Given the description of an element on the screen output the (x, y) to click on. 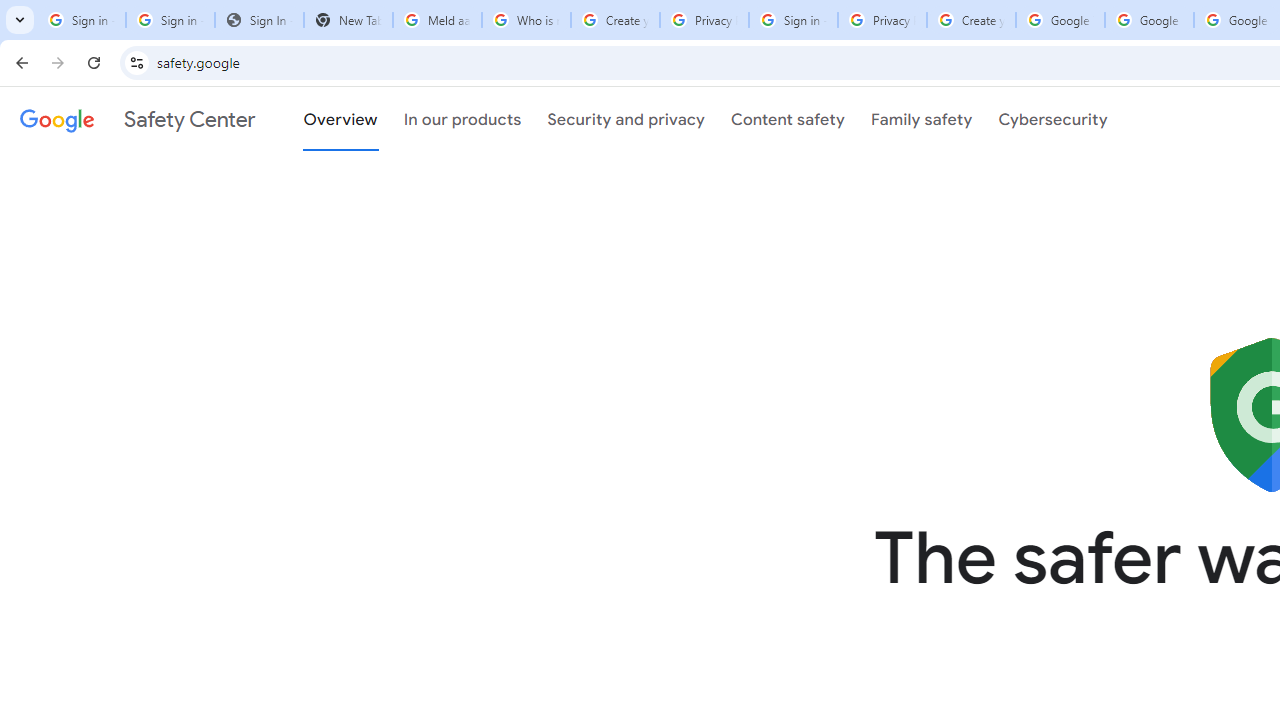
Family safety (921, 119)
New Tab (347, 20)
Create your Google Account (615, 20)
Content safety (787, 119)
Who is my administrator? - Google Account Help (526, 20)
In our products (462, 119)
Security and privacy (626, 119)
